Given the description of an element on the screen output the (x, y) to click on. 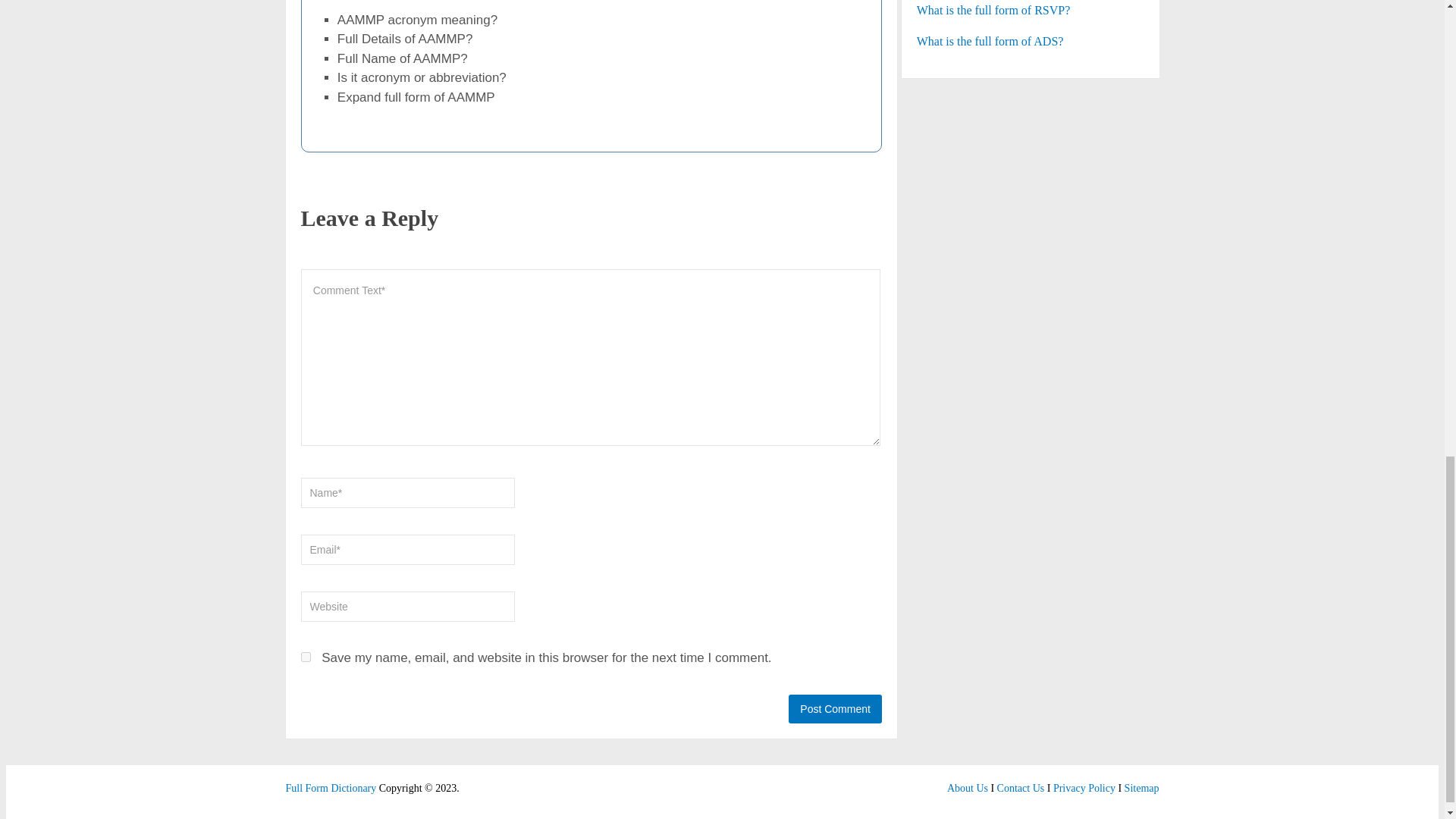
Post Comment (835, 708)
What is the full form of RSVP? (1030, 10)
Full Form Dictionary (330, 787)
What is the full form of ADS? (1030, 41)
What is the full form of ADS? (1030, 41)
Sitemap (1141, 787)
Post Comment (835, 708)
Contact Us (1021, 787)
What is the full form of RSVP? (1030, 10)
yes (304, 656)
